Given the description of an element on the screen output the (x, y) to click on. 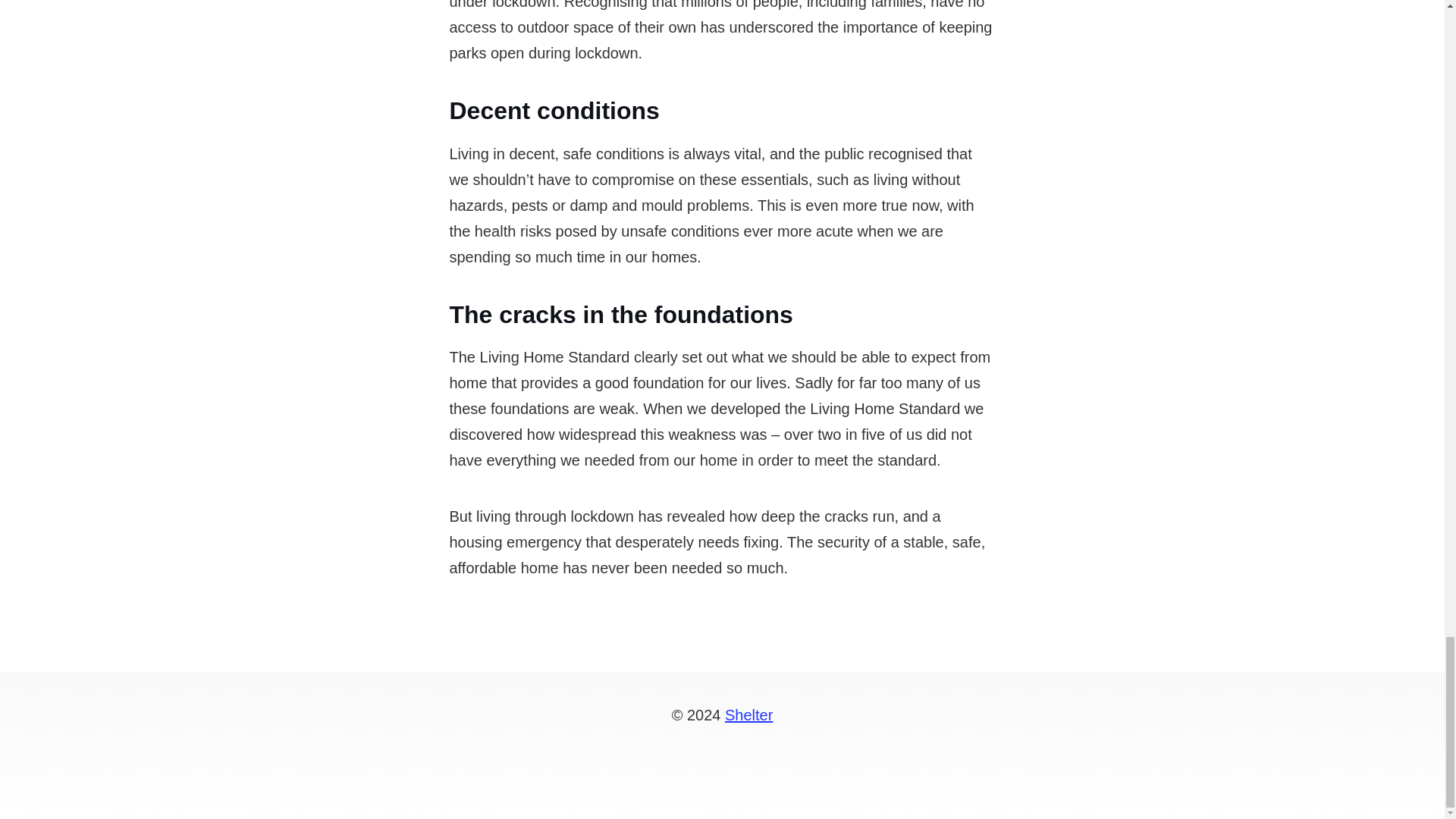
Shelter (749, 714)
